Given the description of an element on the screen output the (x, y) to click on. 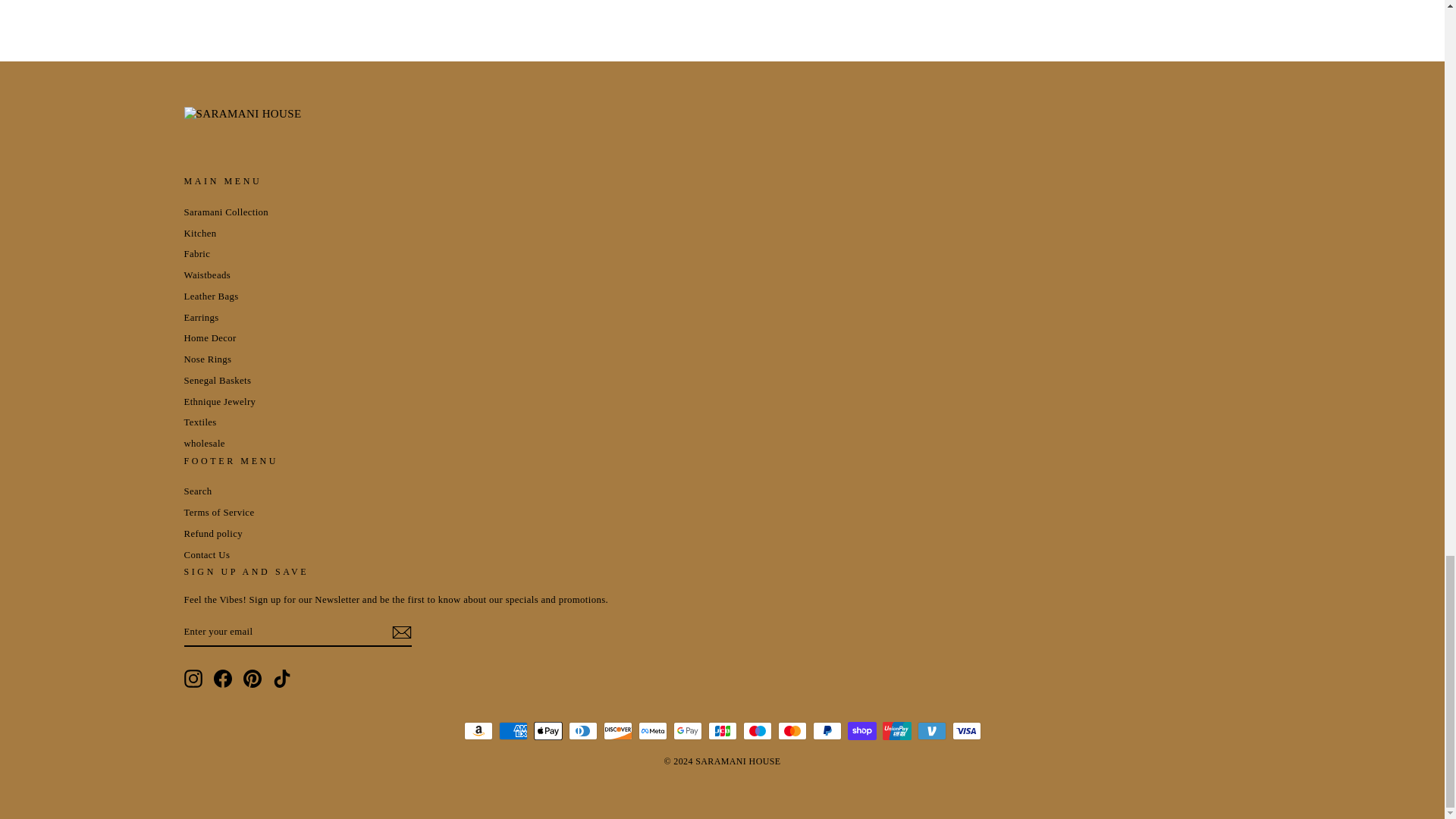
SARAMANI HOUSE  on Facebook (222, 678)
SARAMANI HOUSE  on Instagram (192, 678)
SARAMANI HOUSE  on TikTok (282, 678)
SARAMANI HOUSE  on Pinterest (251, 678)
